Given the description of an element on the screen output the (x, y) to click on. 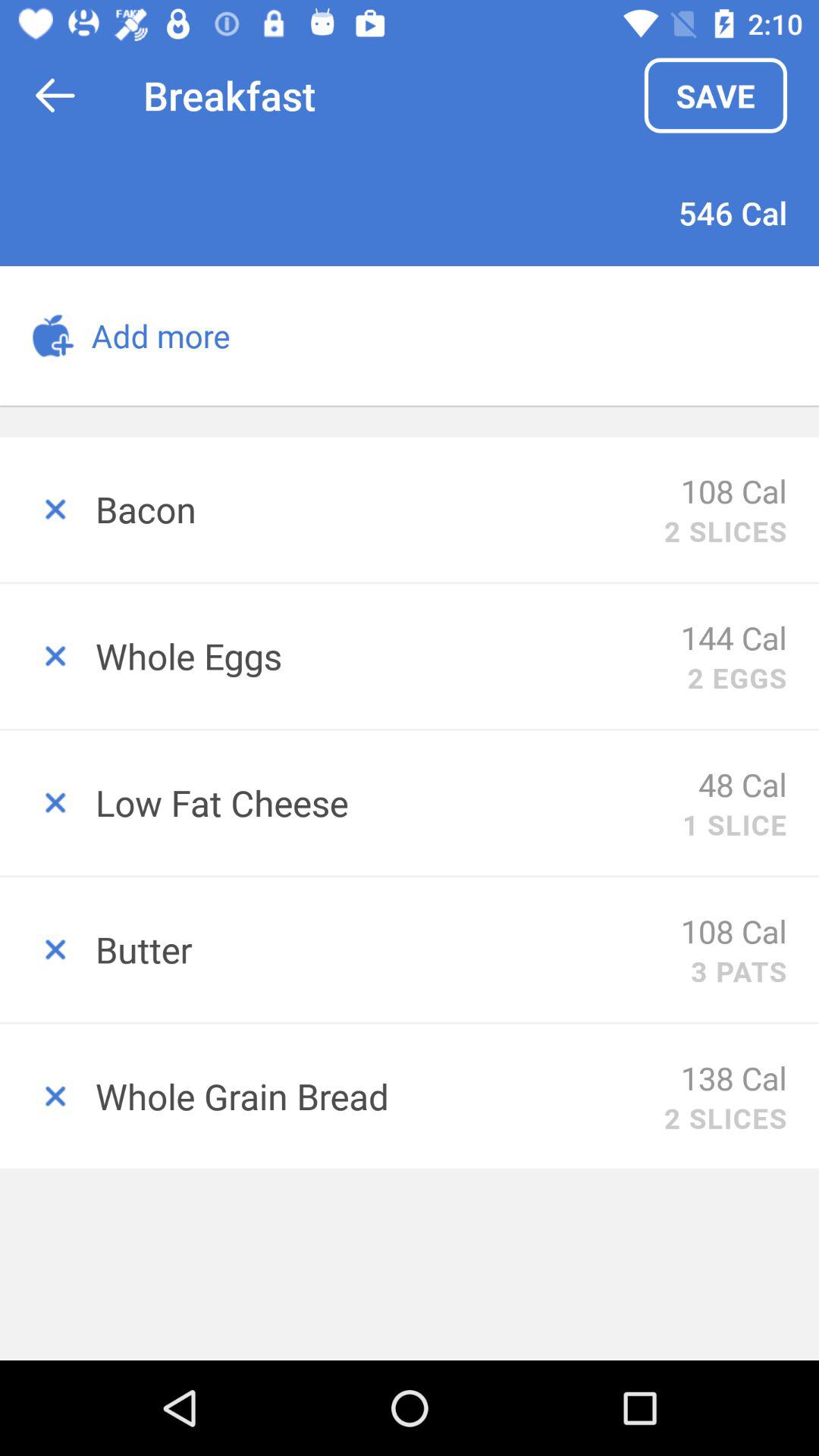
remove item (47, 509)
